Given the description of an element on the screen output the (x, y) to click on. 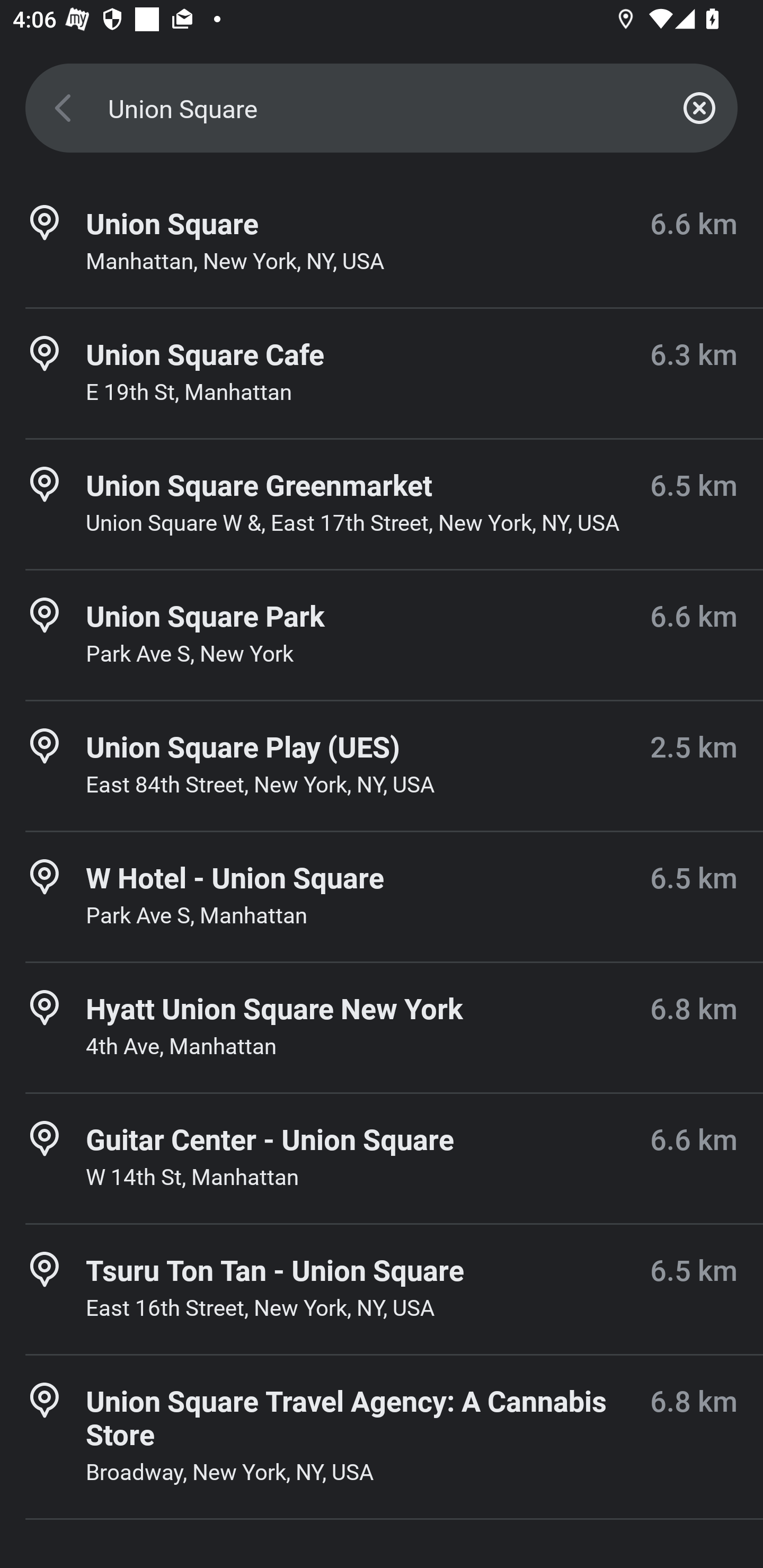
Union Square SEARCH_SCREEN_SEARCH_FIELD (381, 108)
Union Square 6.6 km Manhattan, New York, NY, USA (381, 242)
Union Square Cafe 6.3 km E 19th St, Manhattan (381, 372)
Union Square Park 6.6 km Park Ave S, New York (381, 634)
